Given the description of an element on the screen output the (x, y) to click on. 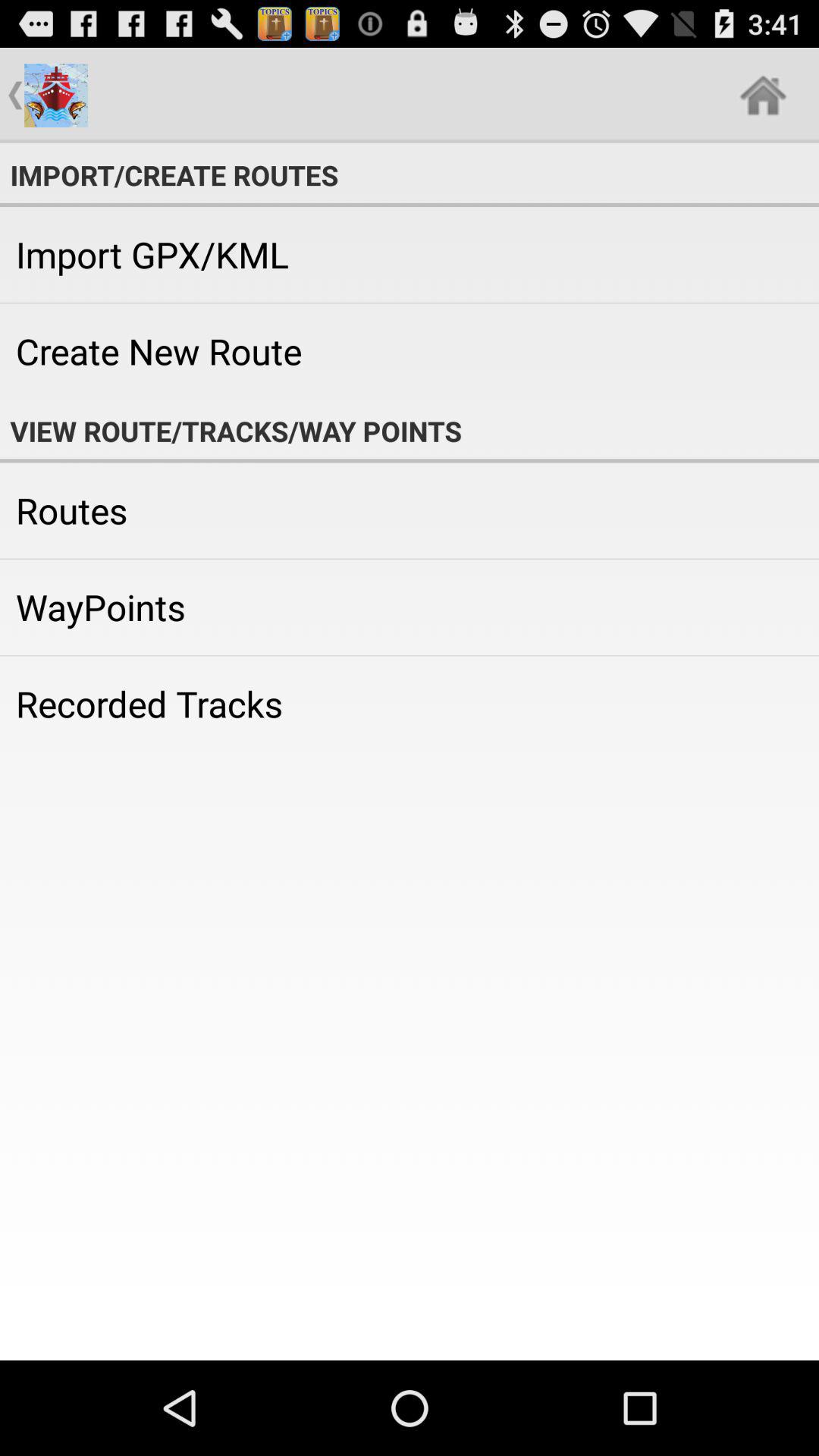
open the icon above recorded tracks app (409, 607)
